Given the description of an element on the screen output the (x, y) to click on. 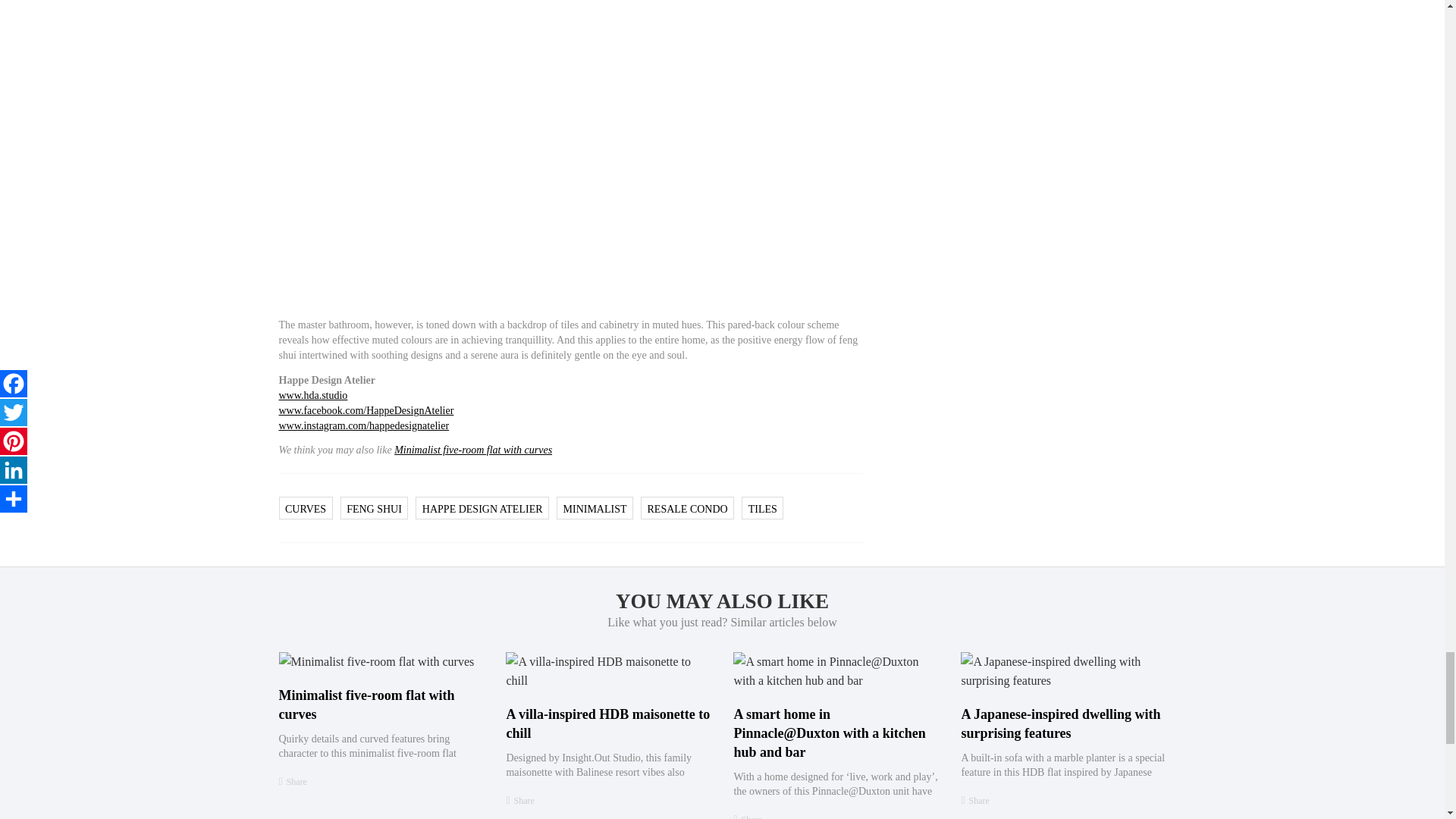
CURVES (305, 509)
Minimalist five-room flat with curves (472, 449)
A Japanese-inspired dwelling with surprising features (1063, 670)
HAPPE DESIGN ATELIER (482, 509)
RESALE CONDO (687, 509)
Minimalist five-room flat with curves (366, 704)
www.hda.studio (313, 395)
MINIMALIST (595, 509)
Minimalist five-room flat with curves (376, 660)
TILES (762, 509)
A villa-inspired HDB maisonette to chill (607, 670)
FENG SHUI (373, 509)
